Given the description of an element on the screen output the (x, y) to click on. 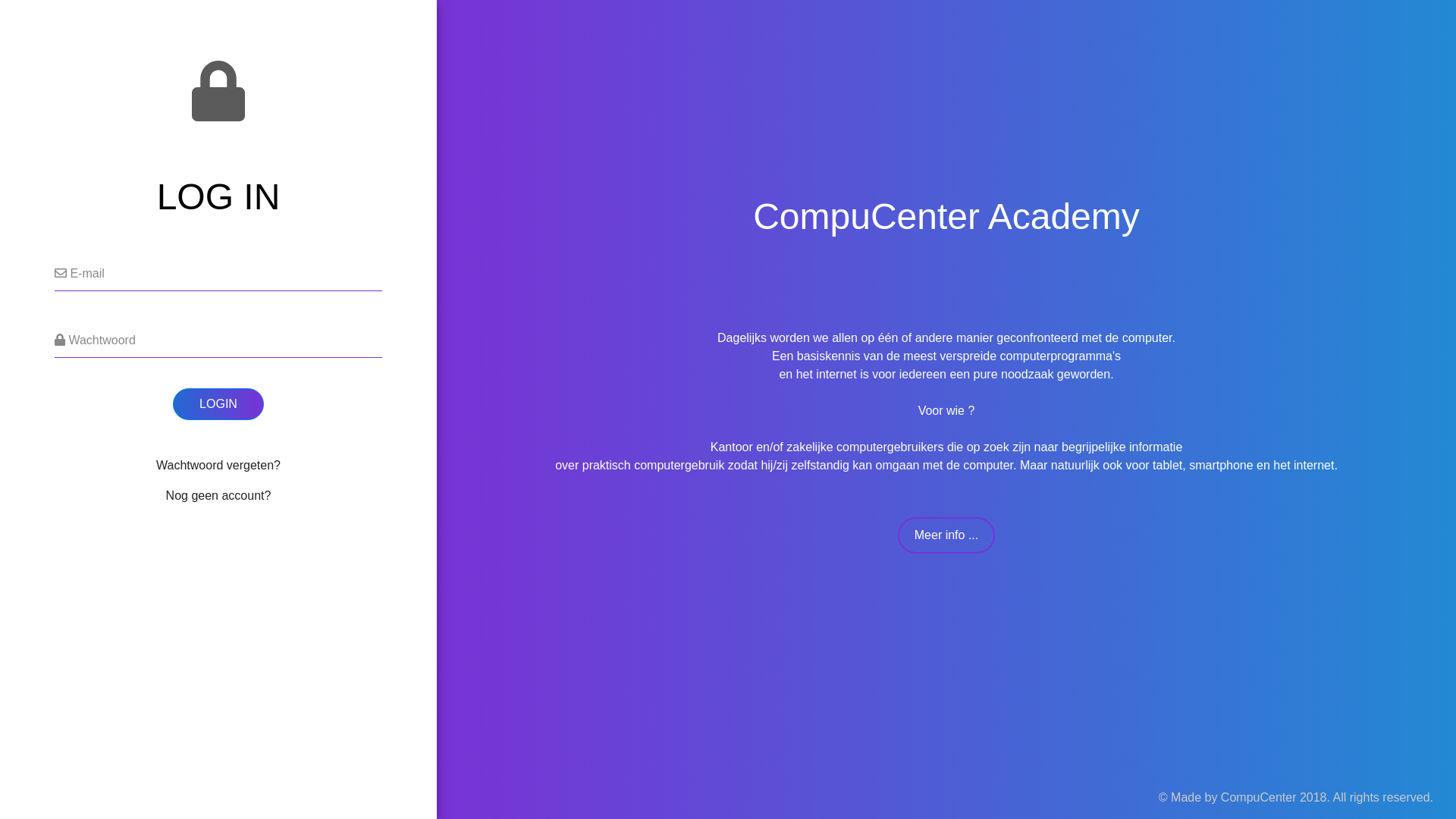
Nog geen account? Element type: text (218, 495)
Meer info ... Element type: text (945, 535)
LOGIN Element type: text (217, 404)
Wachtwoord vergeten? Element type: text (218, 464)
